Given the description of an element on the screen output the (x, y) to click on. 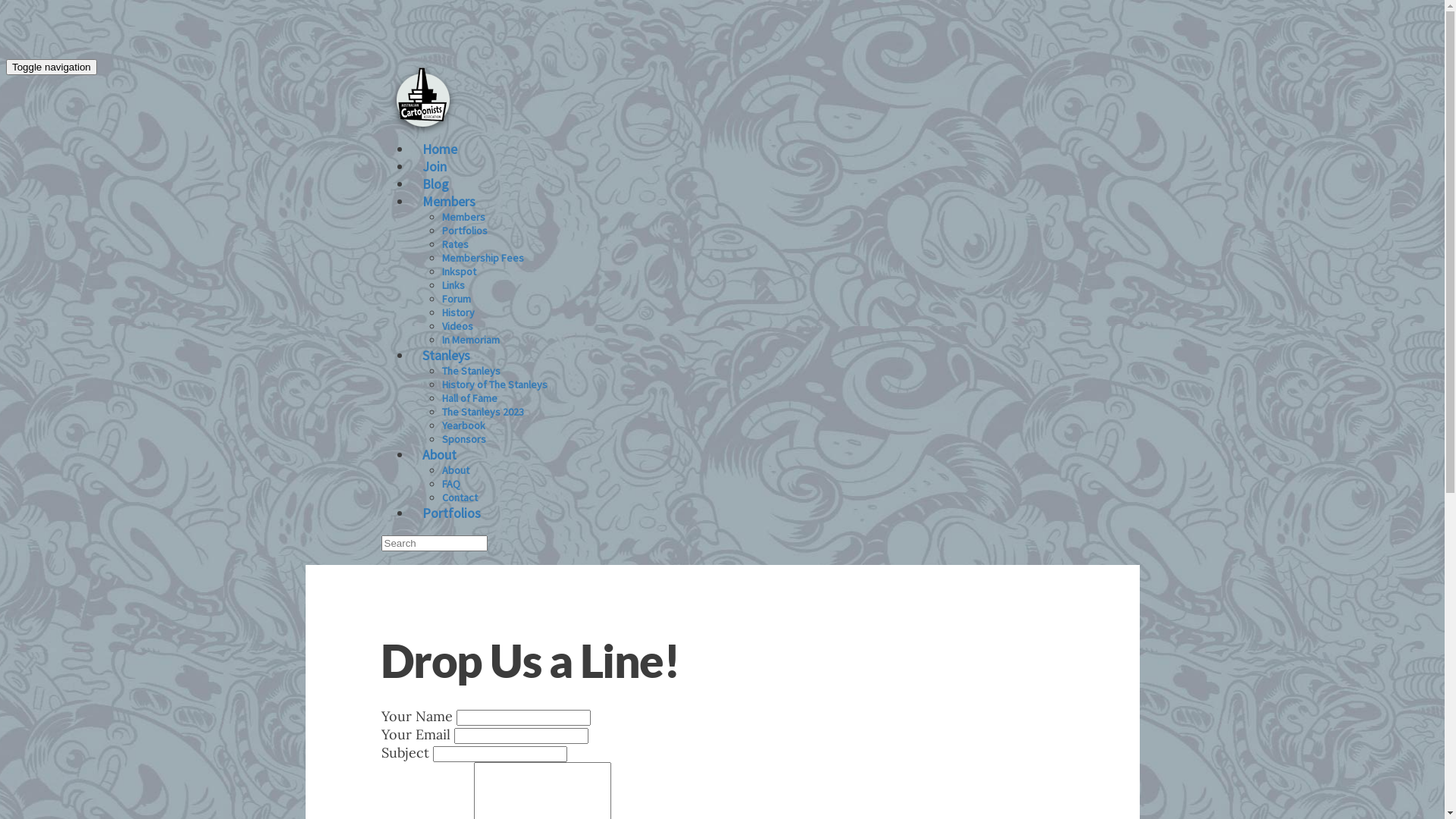
In Memoriam Element type: text (469, 339)
FAQ Element type: text (450, 483)
Links Element type: text (452, 284)
The Stanleys Element type: text (470, 370)
Portfolios Element type: text (463, 230)
Videos Element type: text (456, 325)
Stanleys Element type: text (445, 355)
Yearbook Element type: text (462, 425)
Sponsors Element type: text (463, 438)
About Element type: text (454, 469)
Blog Element type: text (434, 183)
Members Element type: text (462, 216)
Rates Element type: text (454, 244)
The Stanleys 2023 Element type: text (482, 411)
Home Element type: text (439, 148)
Contact Element type: text (458, 497)
History of The Stanleys Element type: text (493, 384)
History Element type: text (457, 312)
Forum Element type: text (455, 298)
Toggle navigation Element type: text (51, 67)
Inkspot Element type: text (458, 271)
Members Element type: text (448, 201)
Hall of Fame Element type: text (468, 397)
Portfolios Element type: text (450, 512)
Join Element type: text (433, 166)
Membership Fees Element type: text (482, 257)
About Element type: text (438, 454)
